Given the description of an element on the screen output the (x, y) to click on. 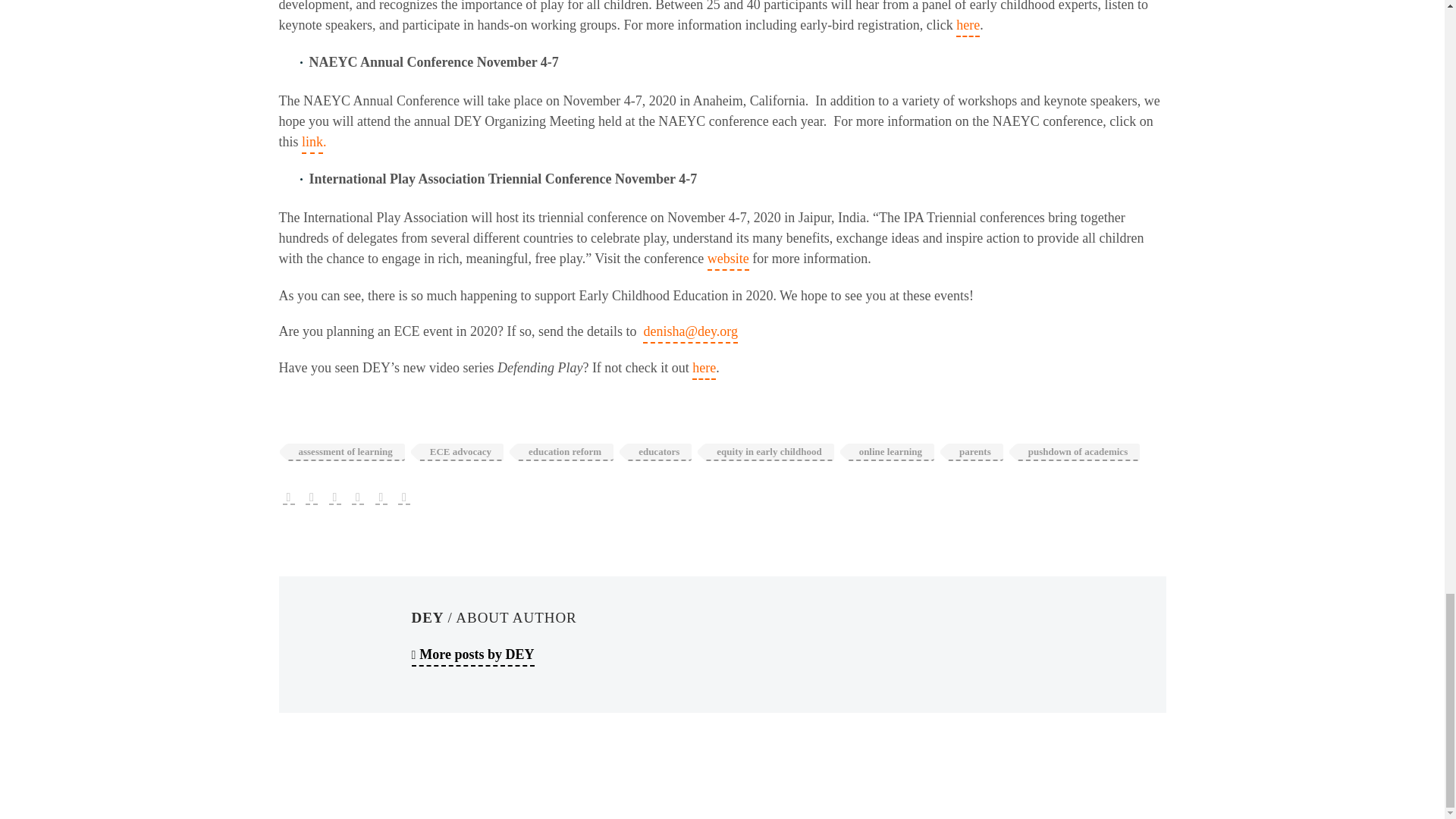
Facebook (288, 498)
Visit the conference website for more information (728, 259)
